Given the description of an element on the screen output the (x, y) to click on. 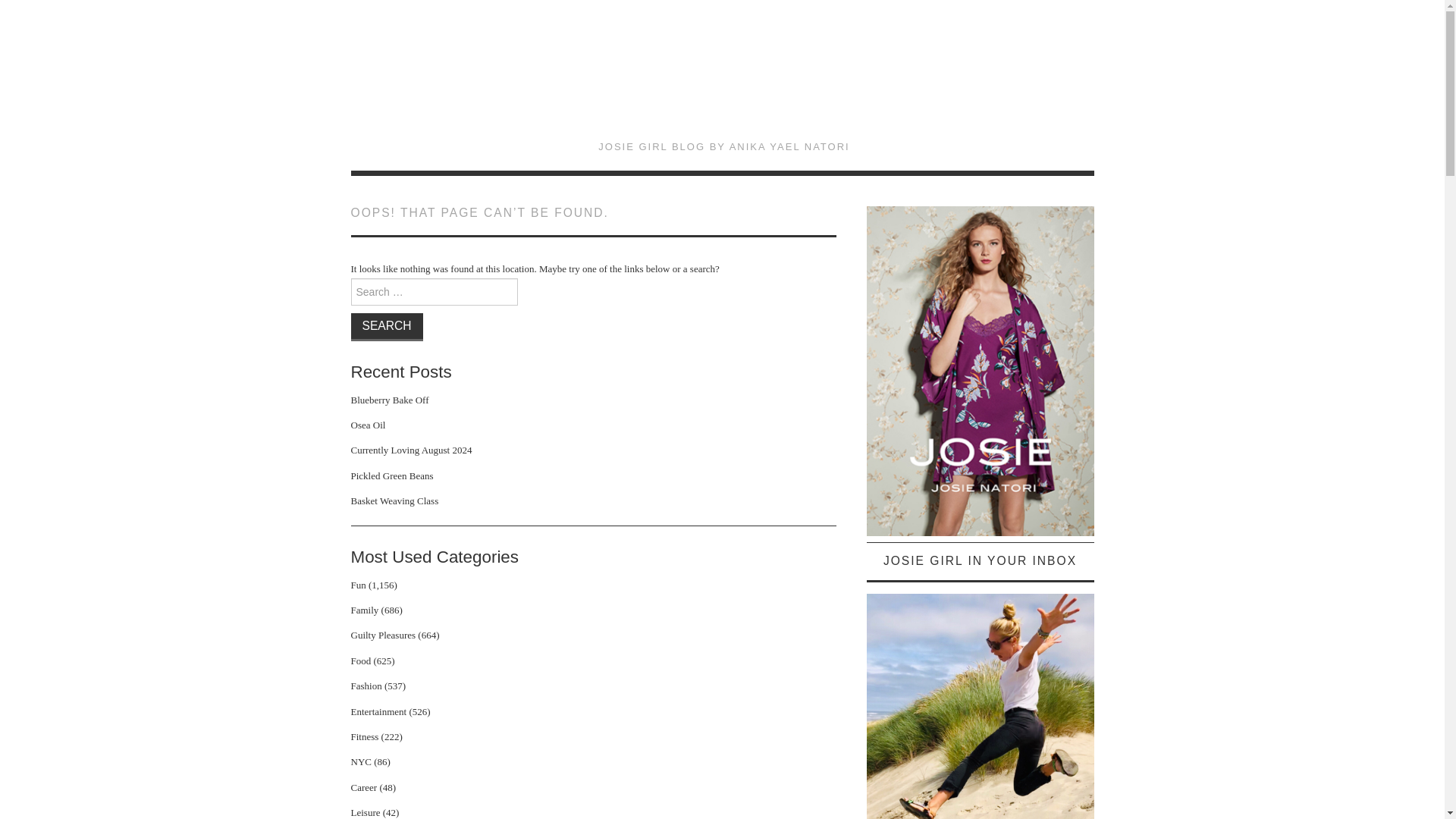
Josie Girl Blog (722, 80)
JOSIE GIRL BLOG (722, 80)
Fun (357, 584)
Search (386, 326)
Blueberry Bake Off (389, 399)
NYC (360, 761)
Pickled Green Beans (391, 475)
Food (360, 660)
Guilty Pleasures (382, 634)
Fashion (365, 685)
